Given the description of an element on the screen output the (x, y) to click on. 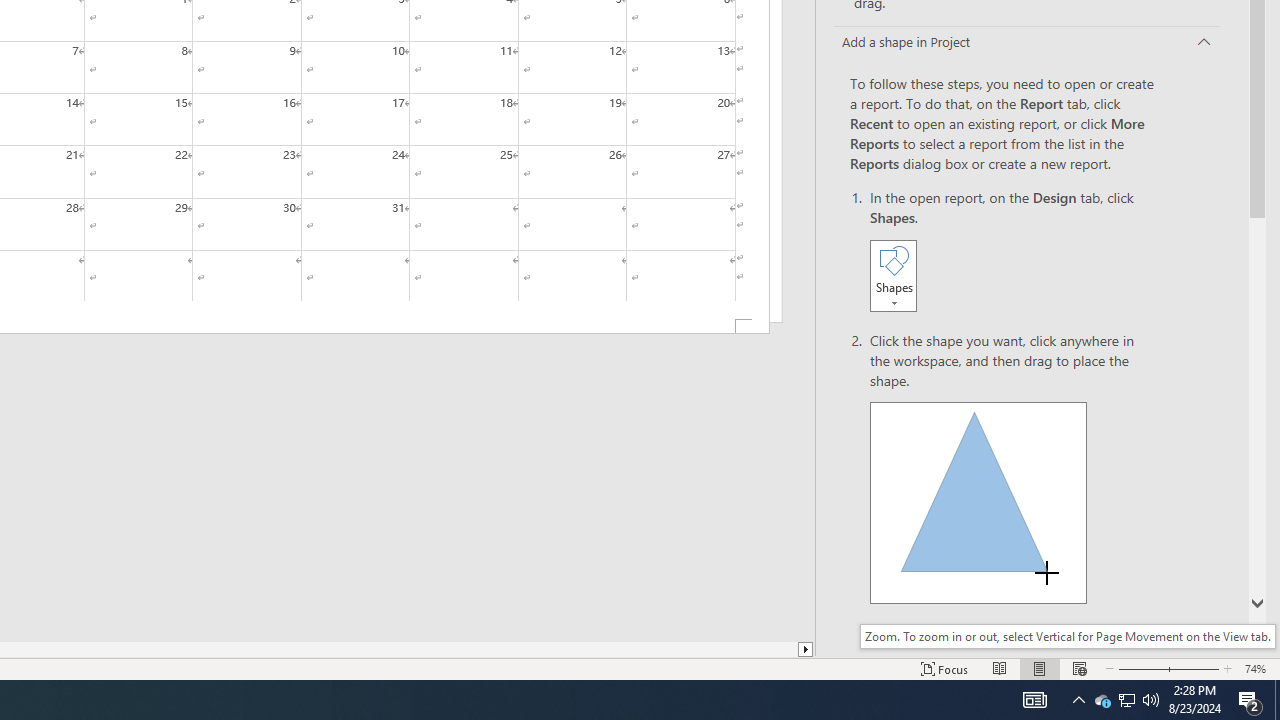
Insert Shapes button (893, 275)
Drawing a shape (978, 502)
Add a shape in Project (1026, 43)
Column right (806, 649)
In the open report, on the Design tab, click Shapes. (1012, 251)
